Given the description of an element on the screen output the (x, y) to click on. 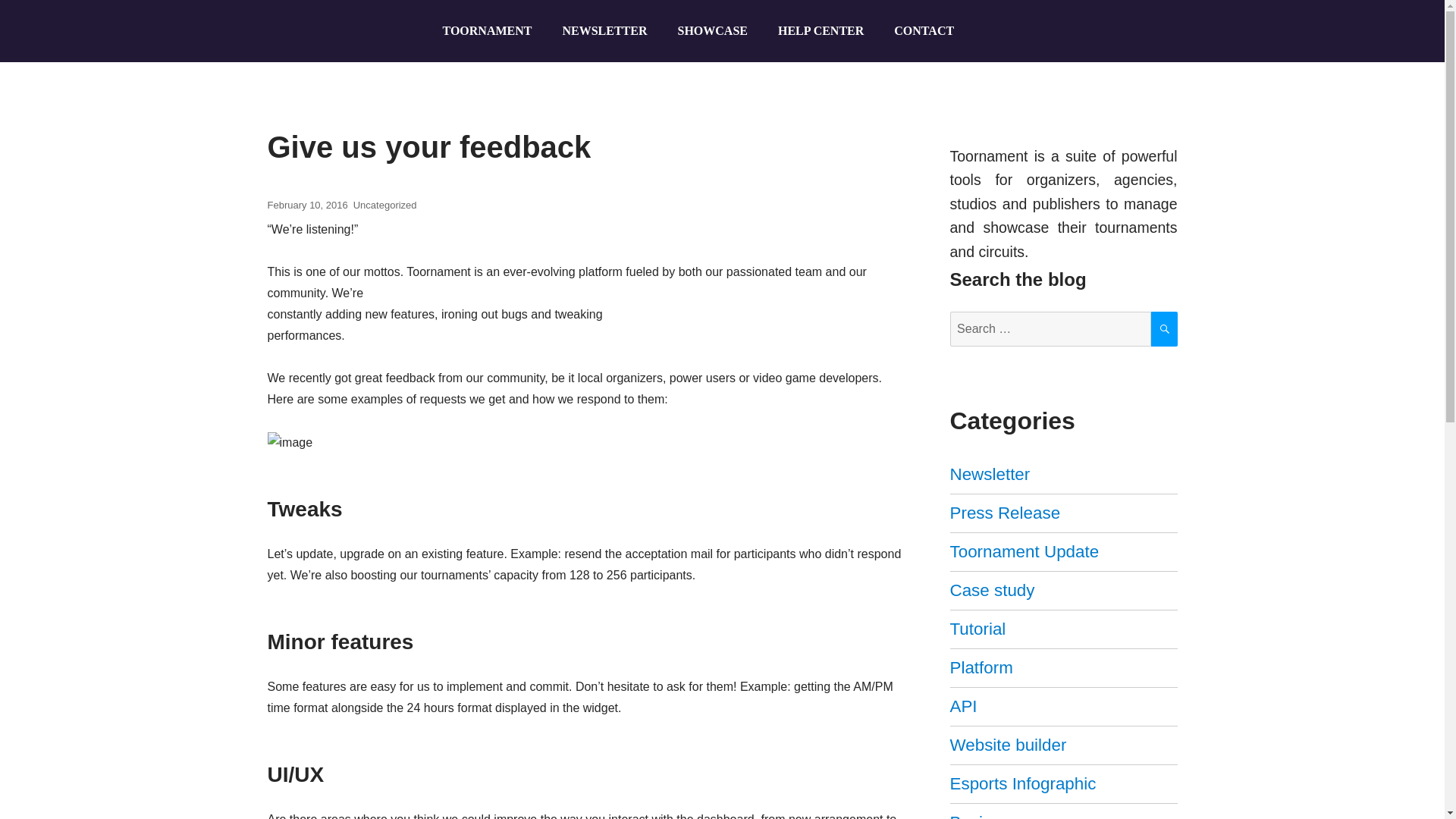
February 10, 2016 (306, 204)
Uncategorized (384, 204)
Newsletter (989, 474)
Toornament Blog (353, 108)
Case study (991, 589)
Toornament Update (1024, 551)
NEWSLETTER (604, 30)
CONTACT (924, 30)
Website builder (1007, 744)
API (962, 705)
Tutorial (977, 628)
SHOWCASE (711, 30)
Esports Infographic (1022, 783)
HELP CENTER (820, 30)
SEARCH (1164, 329)
